Given the description of an element on the screen output the (x, y) to click on. 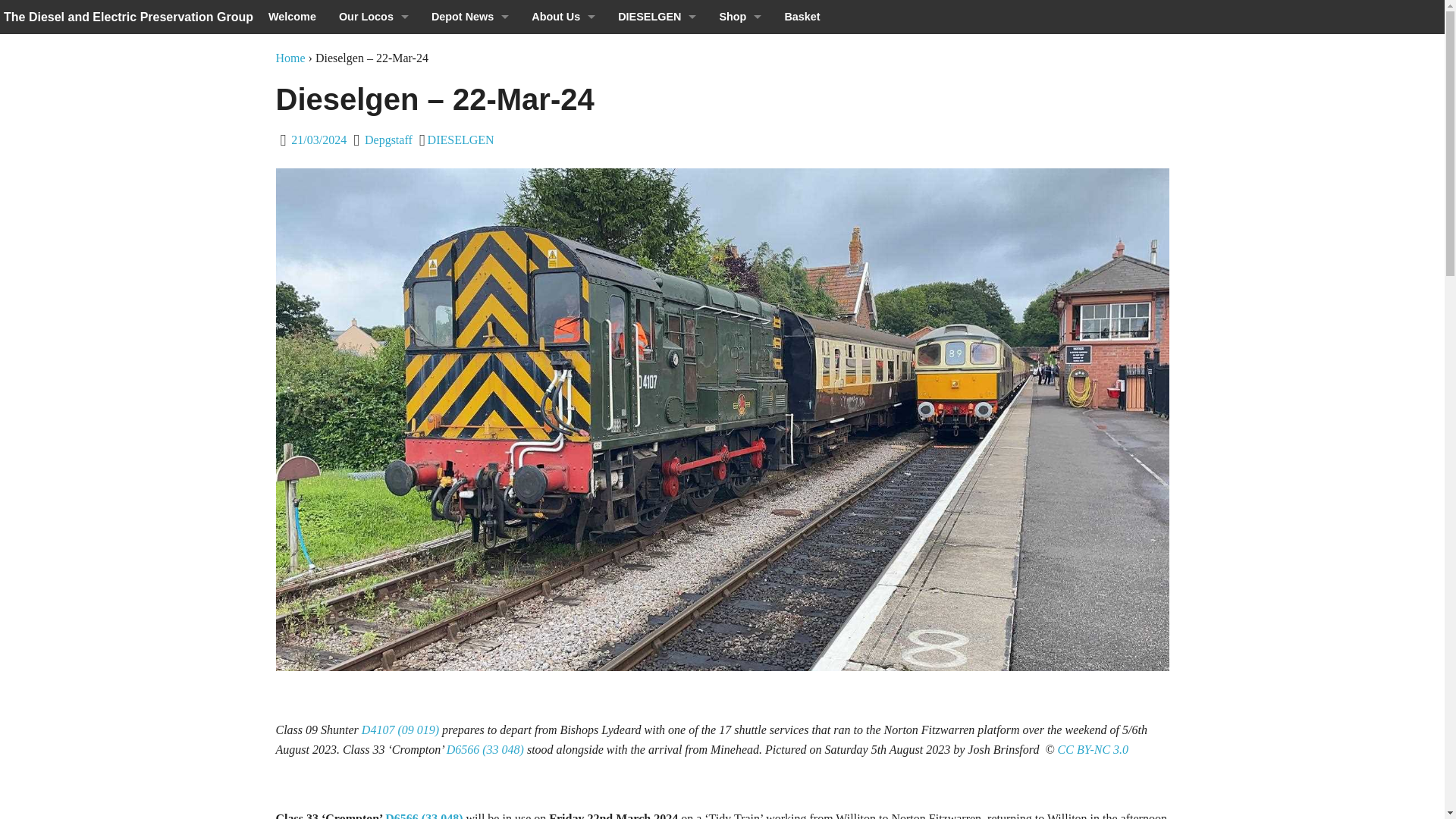
Welcome (292, 17)
Our Locos (373, 17)
Locomotive Status (373, 50)
The Diesel and Electric Preservation Group (128, 17)
Other locos (373, 426)
